Given the description of an element on the screen output the (x, y) to click on. 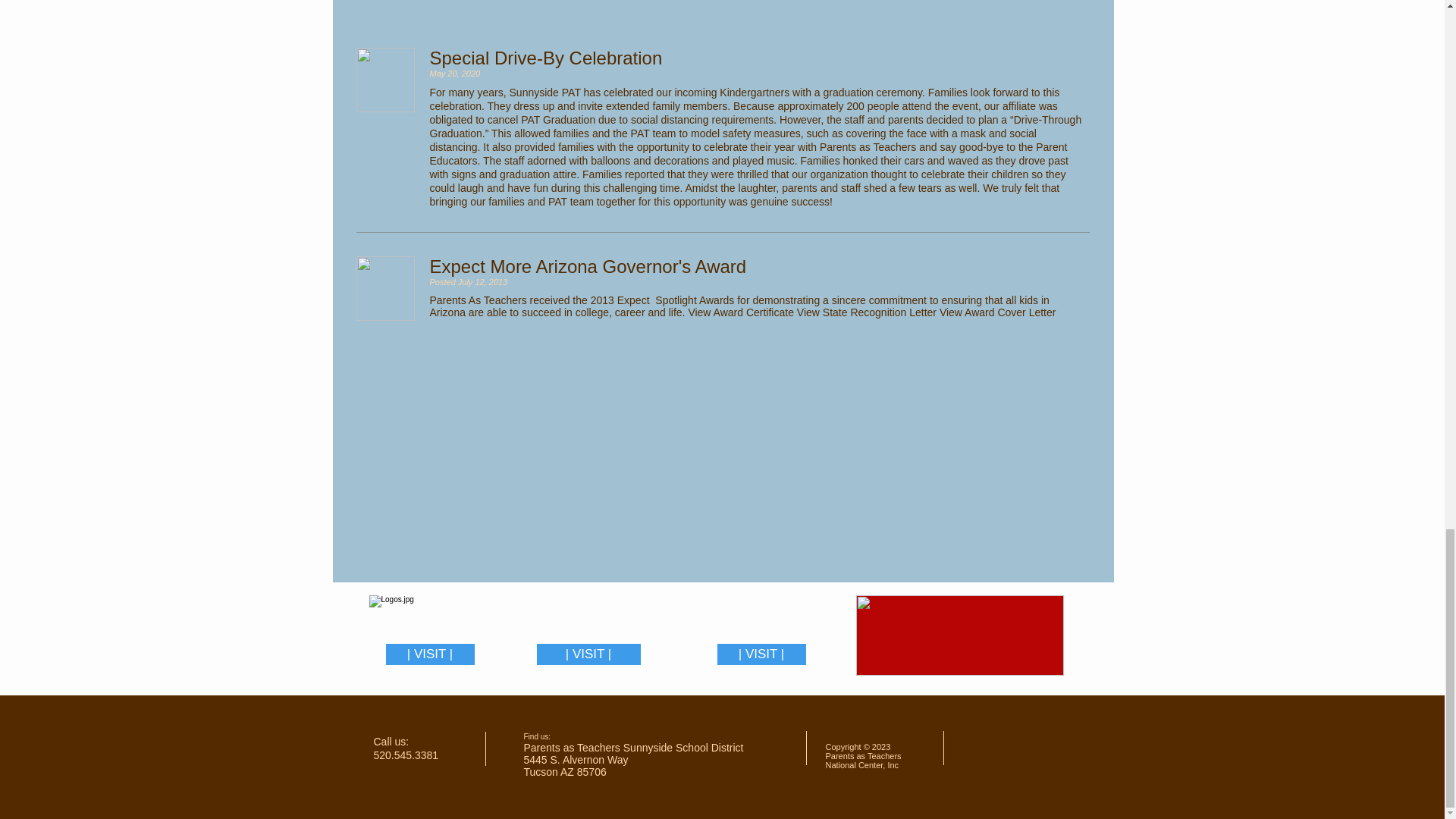
View Award Certificate View (753, 312)
PAT drive through Graduation.png (385, 79)
ExpectMore.PNG (385, 288)
Award Cover Letter (1008, 312)
State Recognition Letter View (890, 312)
